Given the description of an element on the screen output the (x, y) to click on. 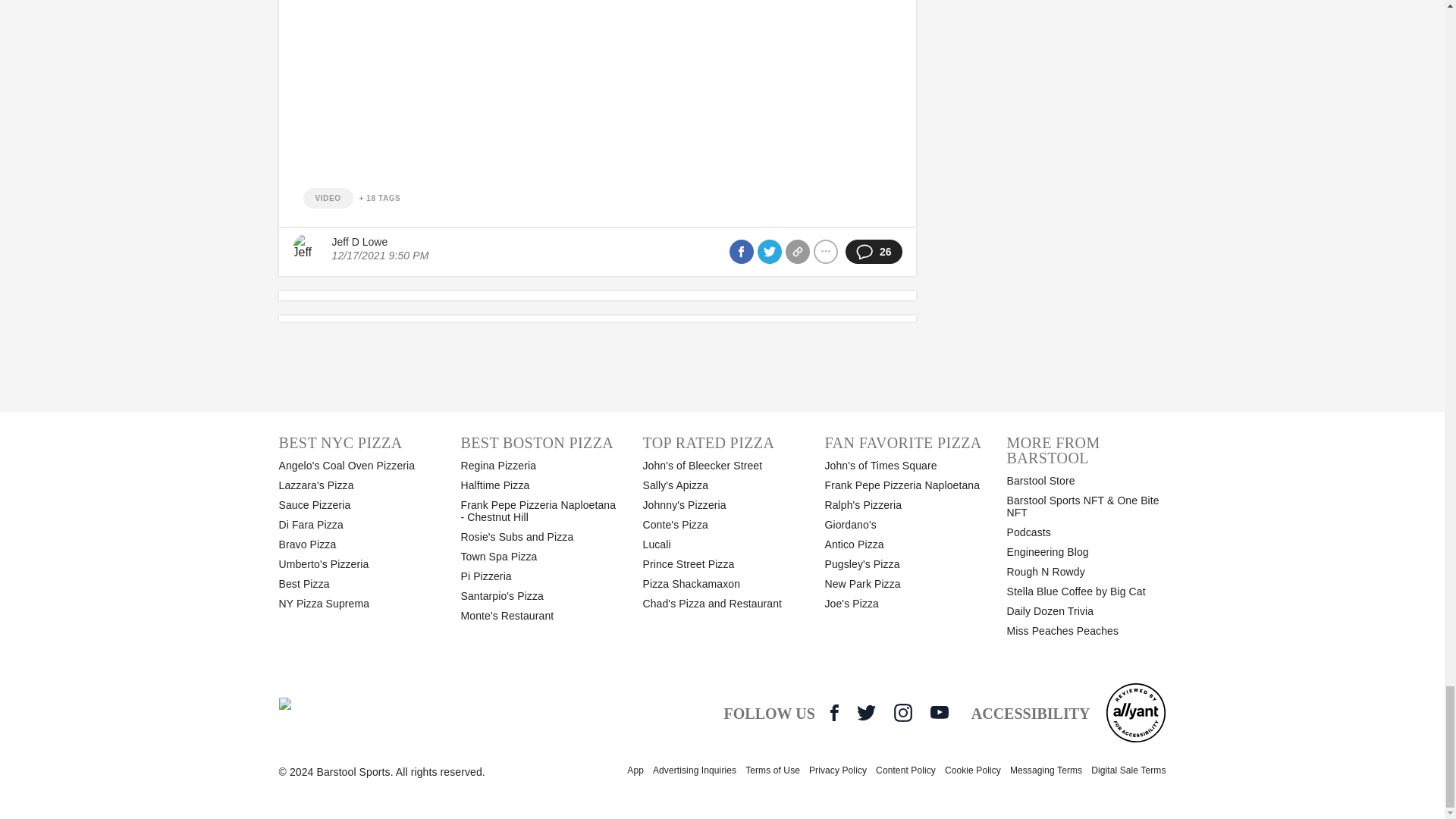
Instagram Icon (902, 712)
Twitter Icon (866, 712)
YouTube Icon (939, 711)
Reviewed by Allyant for accessibility (1135, 712)
